Given the description of an element on the screen output the (x, y) to click on. 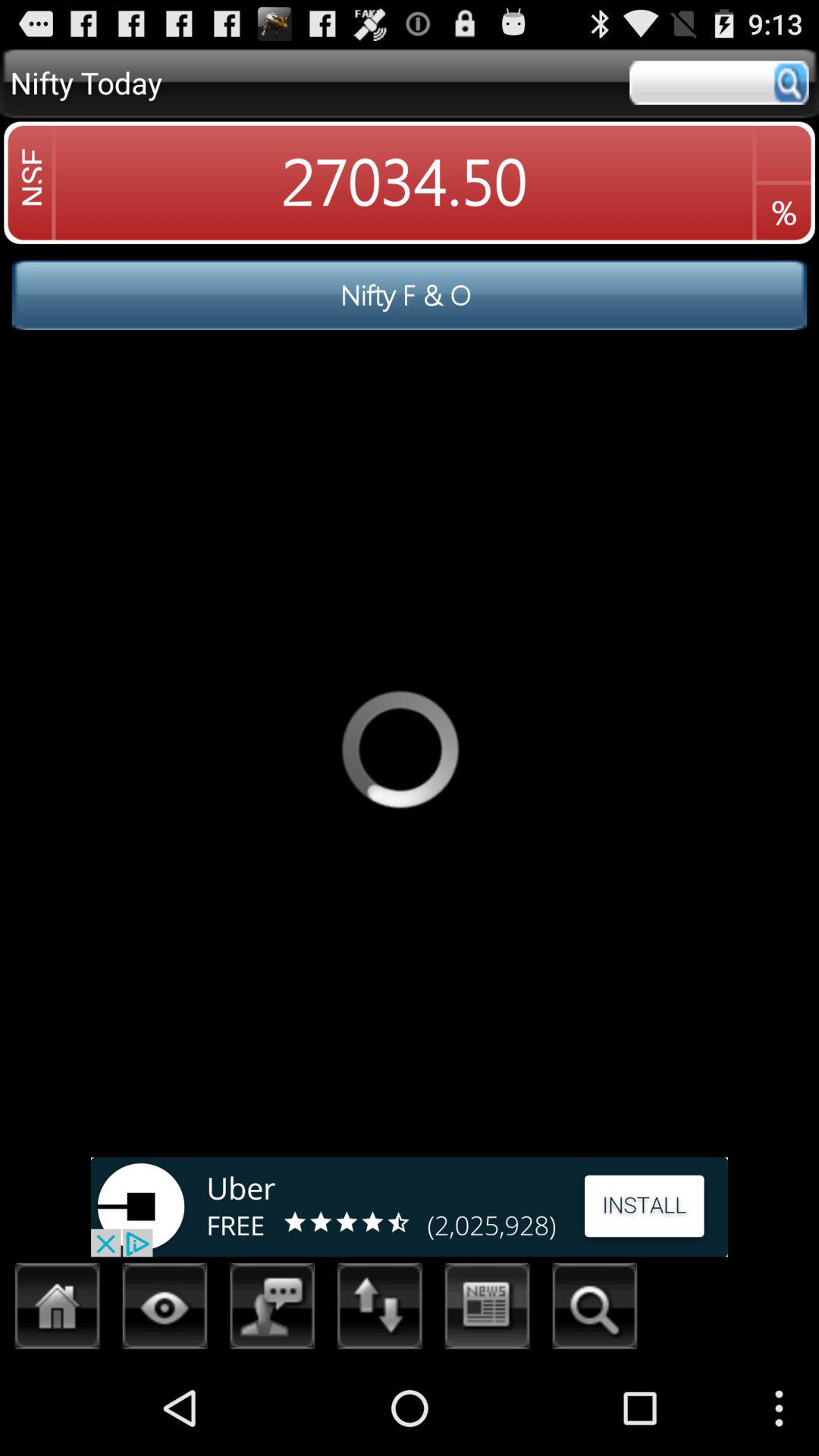
go to calendar (487, 1310)
